Given the description of an element on the screen output the (x, y) to click on. 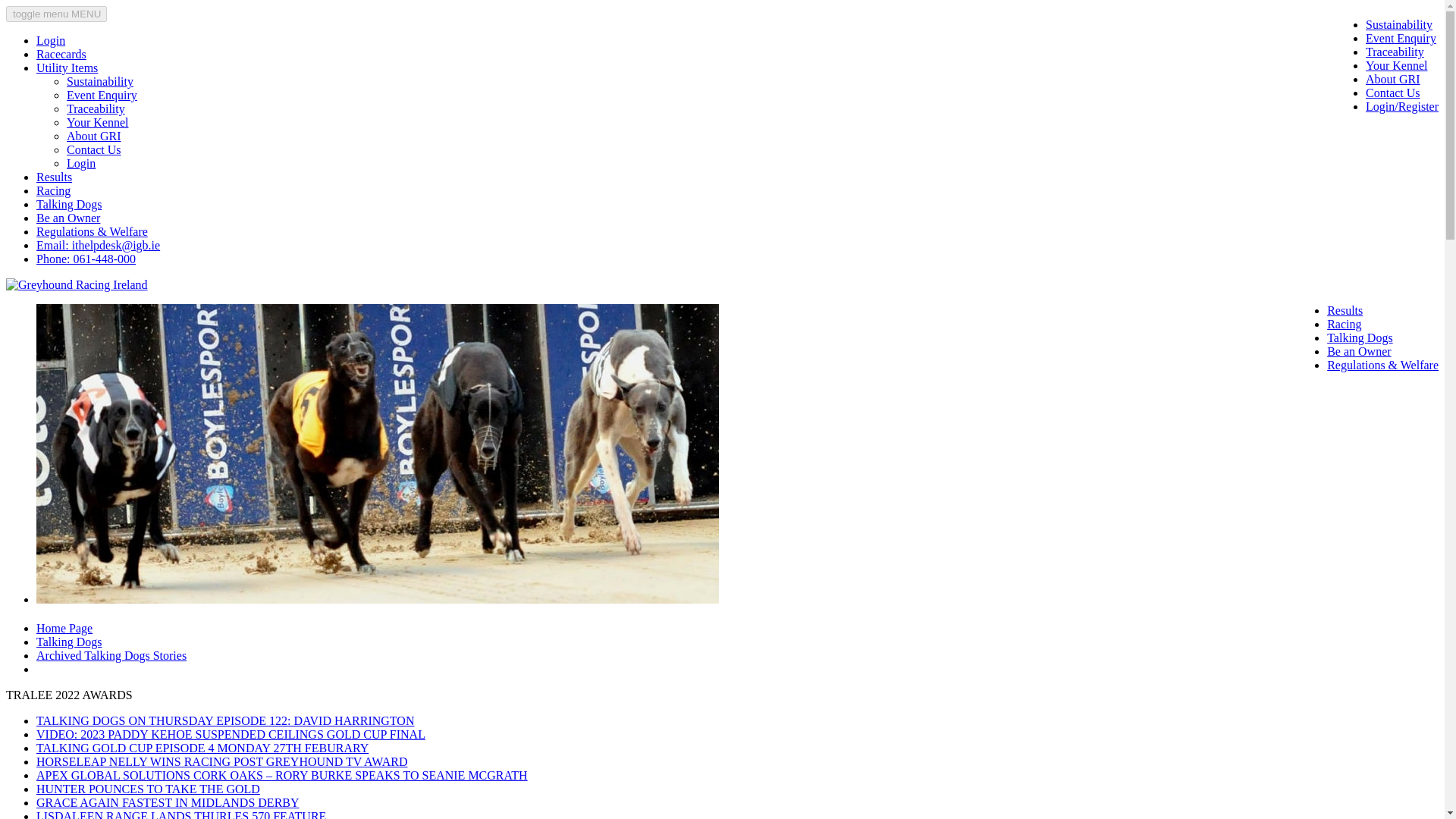
Traceability (1394, 51)
Racecards (60, 53)
Traceability (95, 108)
Talking Dogs (1358, 337)
Utility Items (66, 67)
TALKING DOGS ON THURSDAY EPISODE 122: DAVID HARRINGTON (224, 720)
Racecards (60, 53)
Racing (1343, 323)
HORSELEAP NELLY WINS RACING POST GREYHOUND TV AWARD (221, 761)
Contact Us (93, 149)
Contact Us (1393, 92)
TALKING GOLD CUP EPISODE 4 MONDAY 27TH FEBURARY (202, 748)
Your Kennel (97, 122)
About GRI (1393, 78)
Talking Dogs (68, 641)
